Given the description of an element on the screen output the (x, y) to click on. 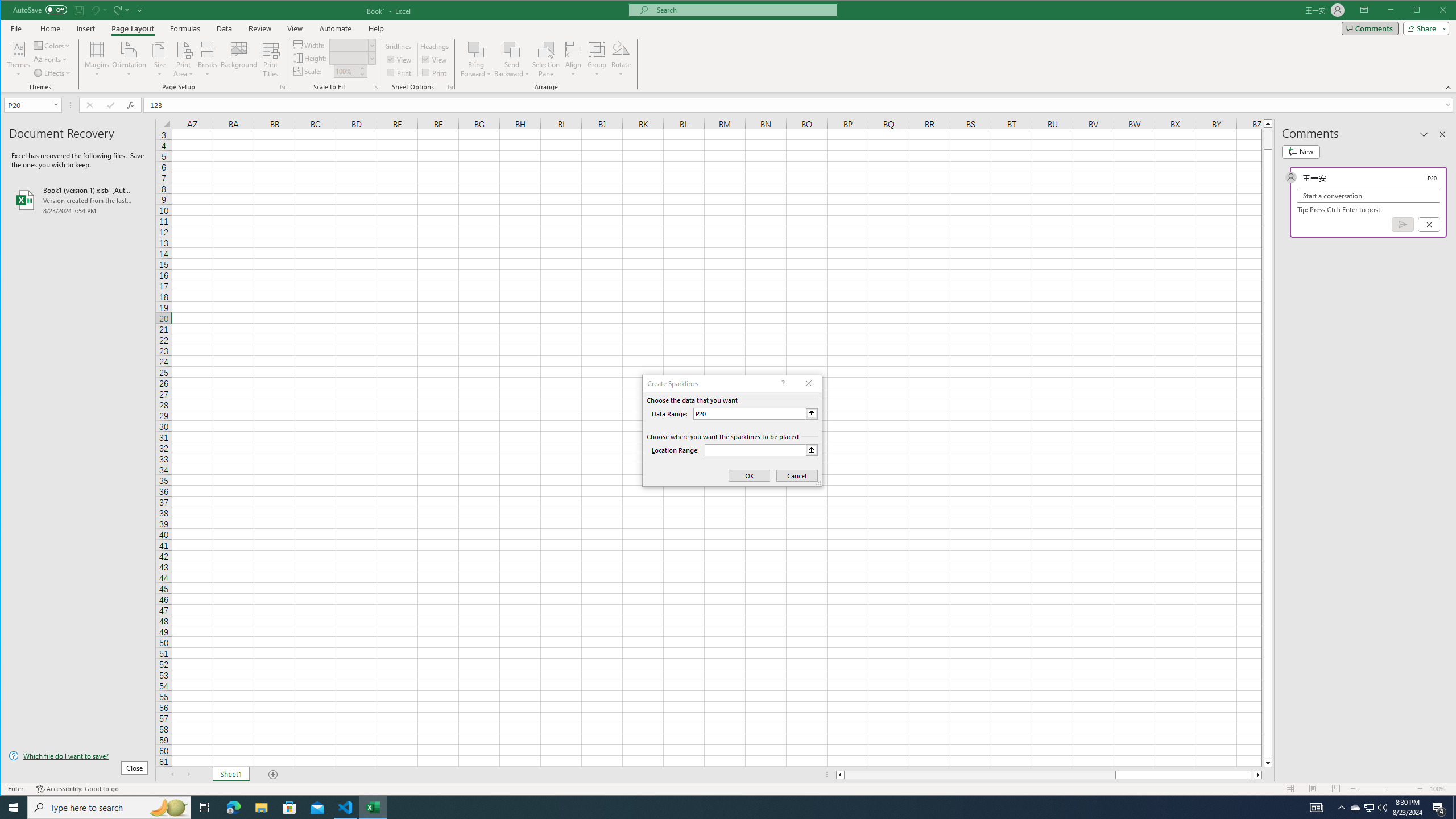
More (361, 68)
Scale (345, 71)
Background... (239, 59)
Sheet Options (449, 86)
Effects (53, 72)
Print (434, 72)
